Given the description of an element on the screen output the (x, y) to click on. 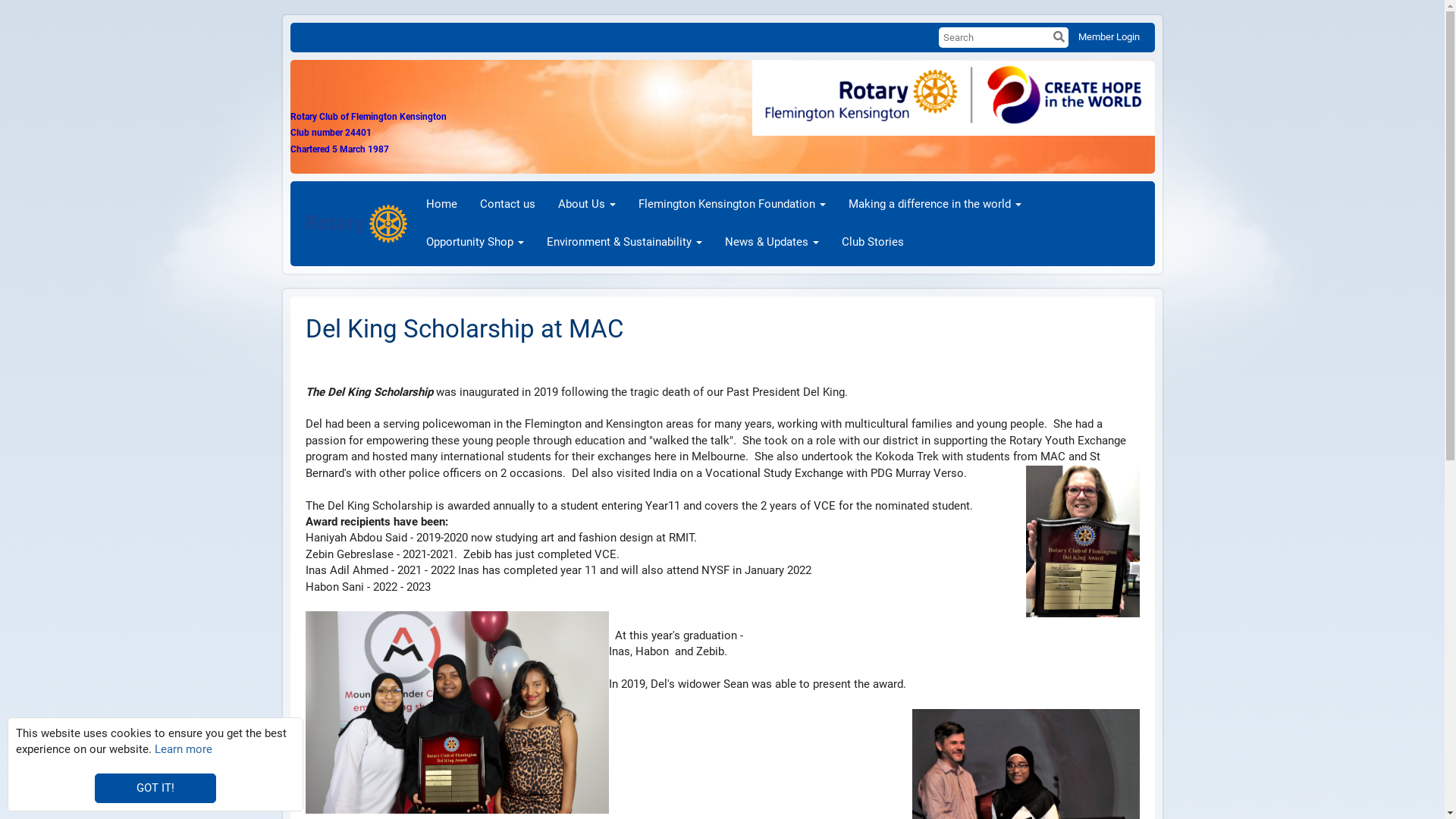
Member Login Element type: text (1108, 36)
Contact us Element type: text (507, 204)
Making a difference in the world Element type: text (934, 204)
Flemington Kensington Foundation Element type: text (732, 204)
About Us Element type: text (586, 204)
Learn more Element type: text (183, 749)
Opportunity Shop Element type: text (474, 242)
Environment & Sustainability Element type: text (624, 242)
Club Stories Element type: text (872, 242)
News & Updates Element type: text (771, 242)
Home Element type: text (441, 204)
GOT IT! Element type: text (155, 788)
